Given the description of an element on the screen output the (x, y) to click on. 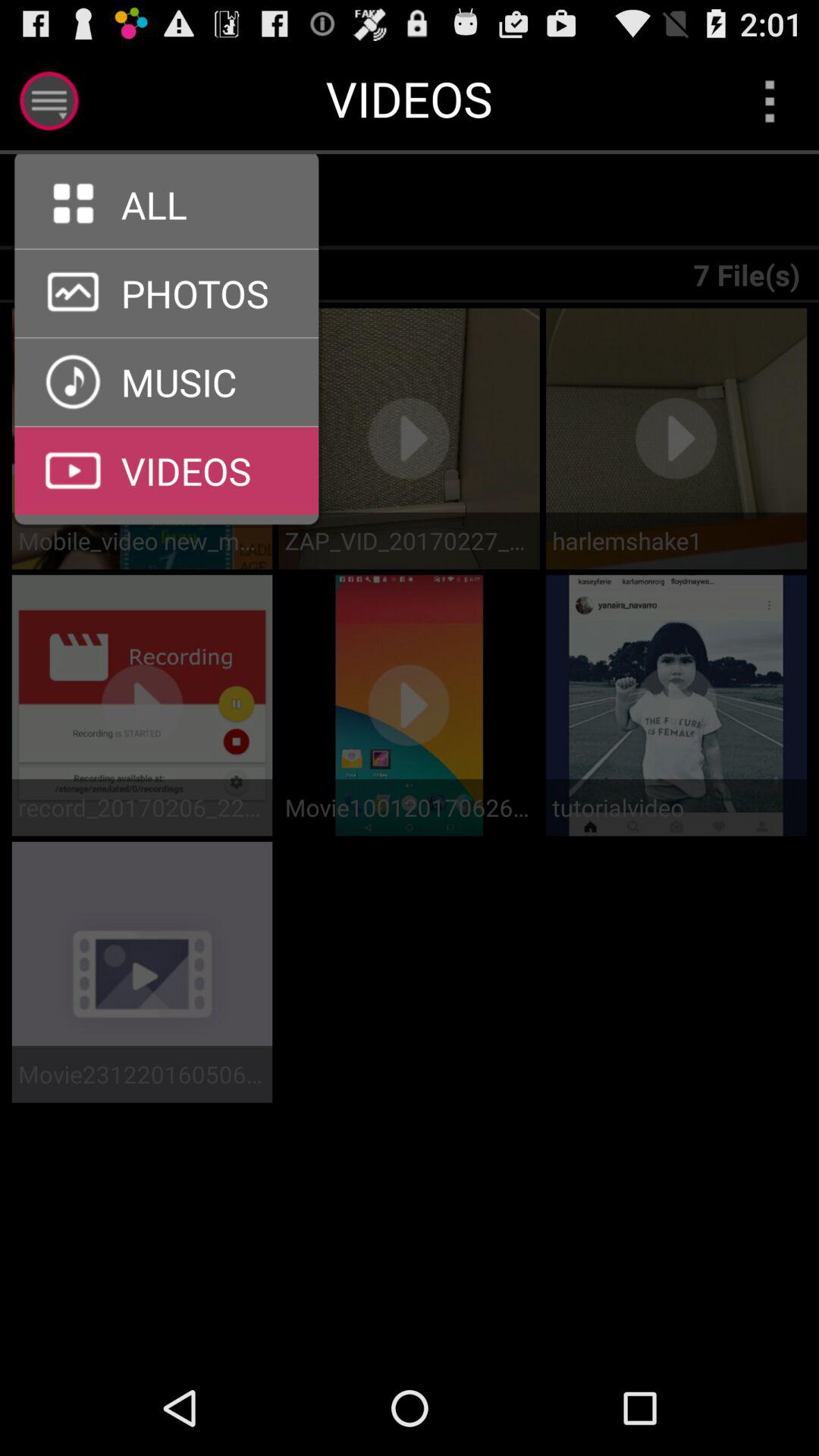
tab to select all (176, 201)
